Given the description of an element on the screen output the (x, y) to click on. 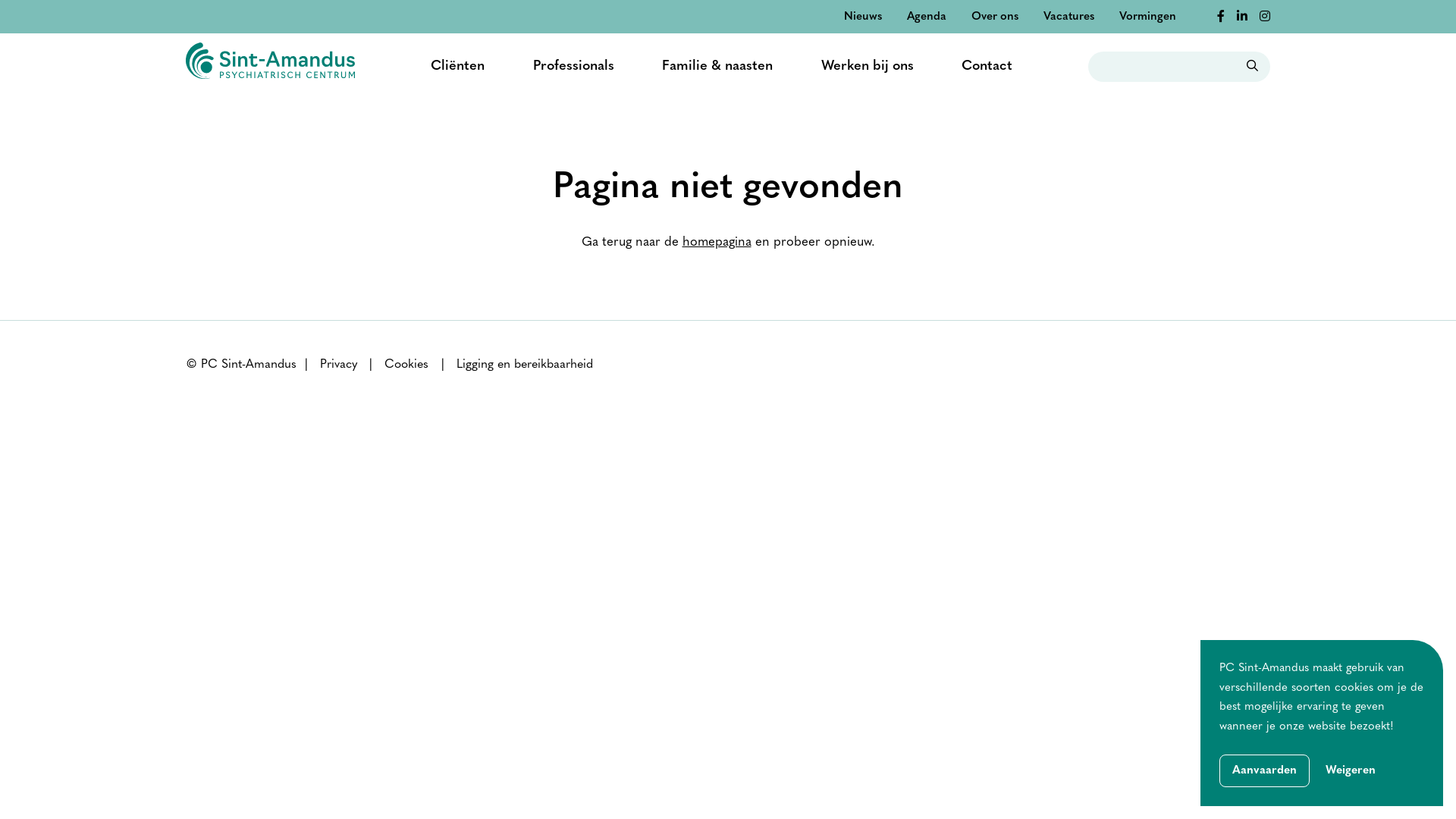
Contact Element type: text (986, 66)
Vacatures Element type: text (1068, 16)
Cookies Element type: text (406, 364)
Ligging en bereikbaarheid Element type: text (524, 364)
Over ons Element type: text (994, 16)
Familie & naasten Element type: text (717, 66)
Nieuws Element type: text (862, 16)
Werken bij ons Element type: text (867, 66)
Weigeren Element type: text (1350, 771)
Aanvaarden Element type: text (1264, 770)
homepagina Element type: text (716, 241)
Agenda Element type: text (926, 16)
Vormingen Element type: text (1147, 16)
Professionals Element type: text (573, 66)
Privacy Element type: text (338, 364)
